Given the description of an element on the screen output the (x, y) to click on. 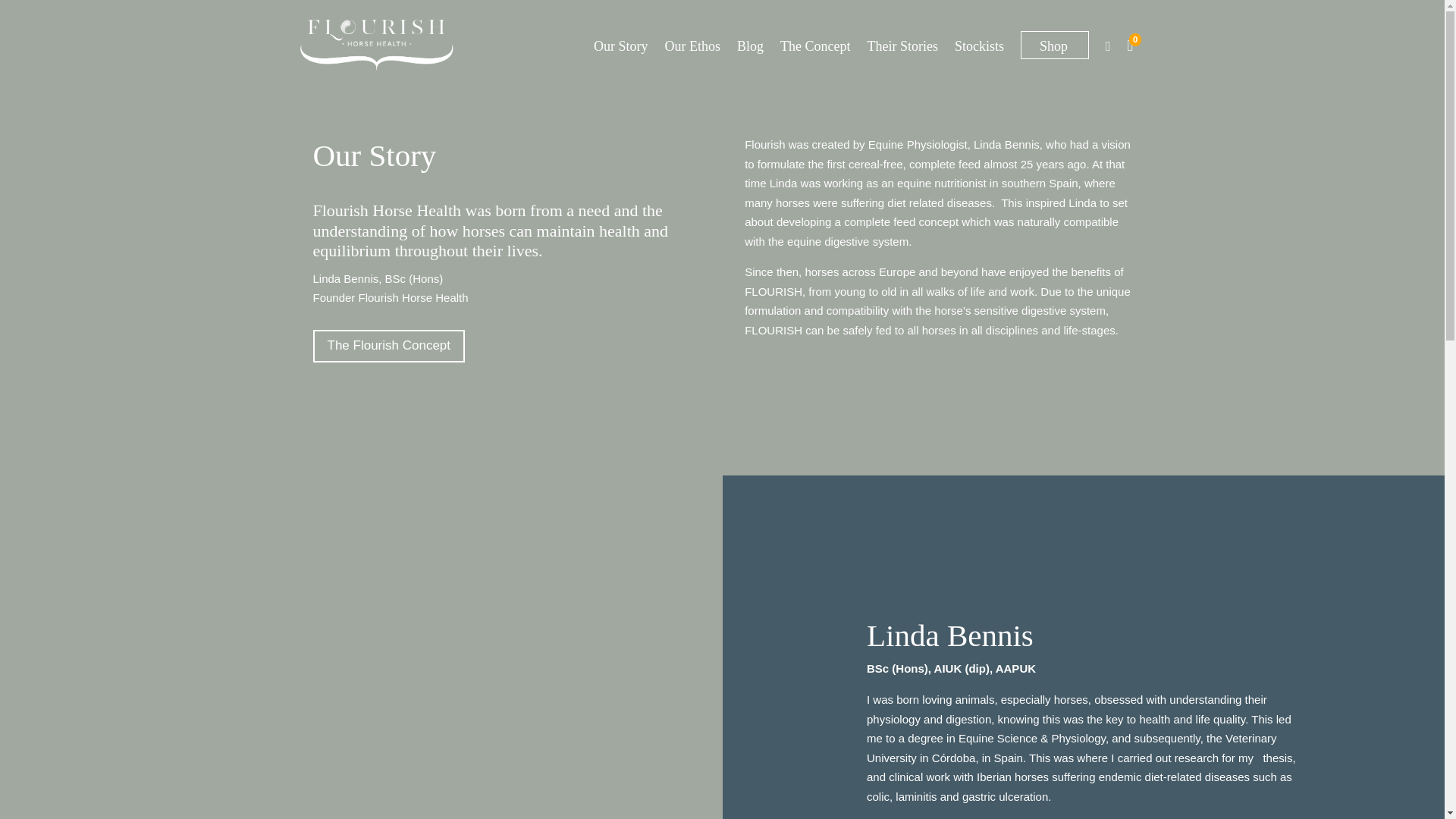
The Concept (815, 46)
The Flourish Concept (388, 346)
Shop (1054, 44)
Their Stories (902, 46)
